Given the description of an element on the screen output the (x, y) to click on. 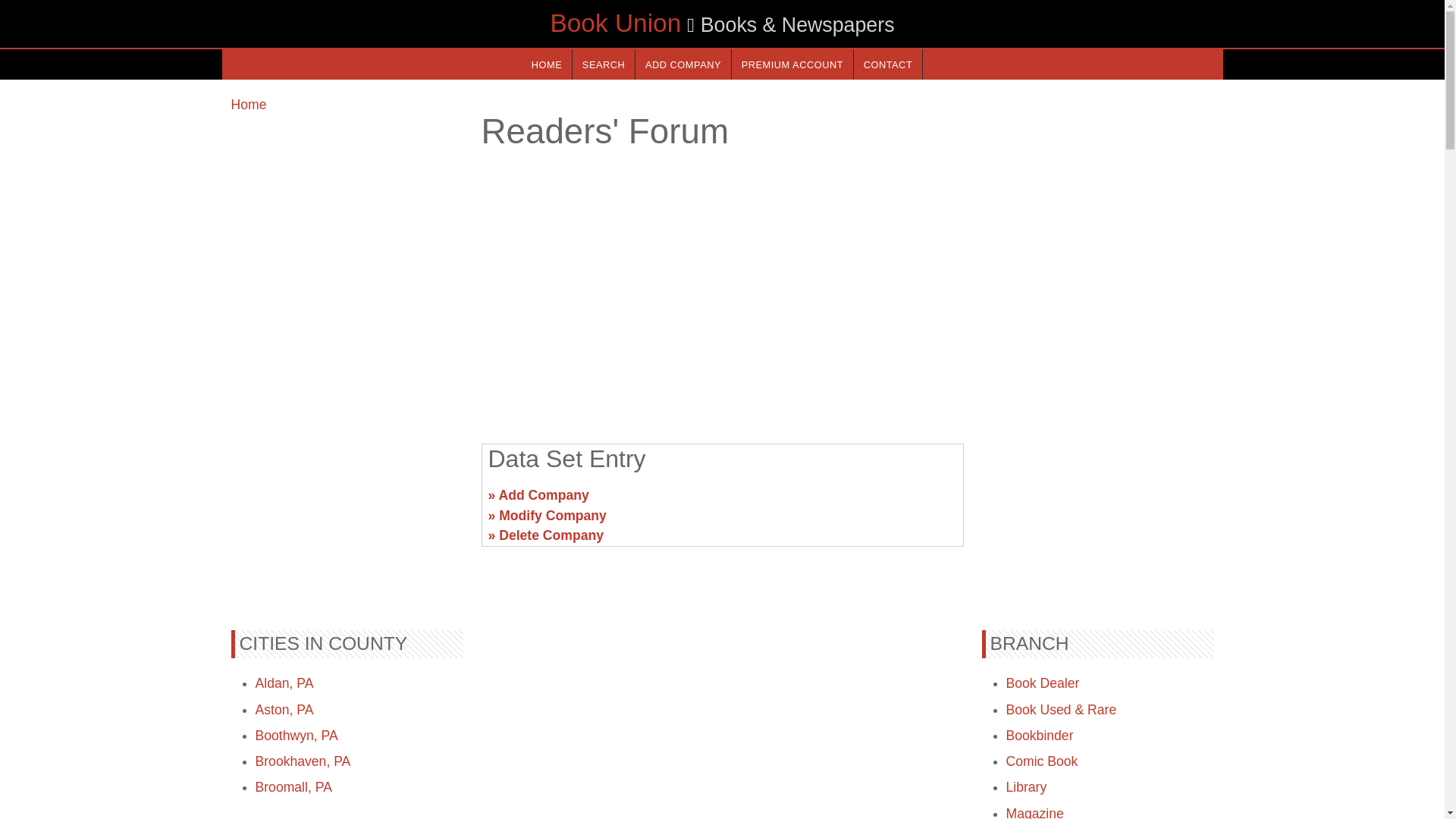
Book Union (615, 22)
ADD COMPANY (682, 64)
Search in this webseite. (603, 64)
Magazine (1034, 812)
Library (1026, 786)
HOME (546, 64)
Book Dealer (1042, 683)
Aldan, PA (283, 683)
SEARCH (603, 64)
Comic Book (1041, 761)
Aston, PA (283, 709)
Brookhaven, PA (302, 761)
CONTACT (887, 64)
Broomall, PA (292, 786)
